Given the description of an element on the screen output the (x, y) to click on. 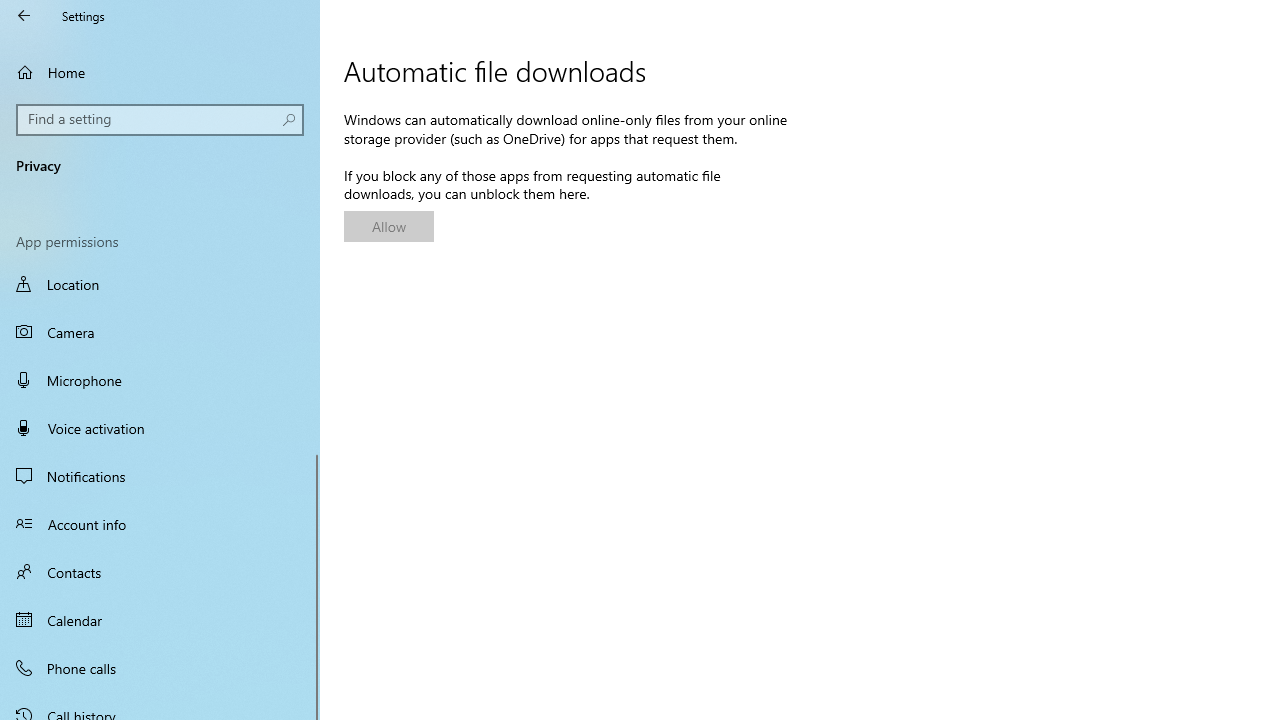
Account info (160, 523)
Camera (160, 331)
Search box, Find a setting (160, 119)
Calendar (160, 619)
Phone calls (160, 667)
Contacts (160, 571)
Voice activation (160, 427)
Allow (388, 225)
Location (160, 286)
Microphone (160, 379)
Notifications (160, 475)
